Given the description of an element on the screen output the (x, y) to click on. 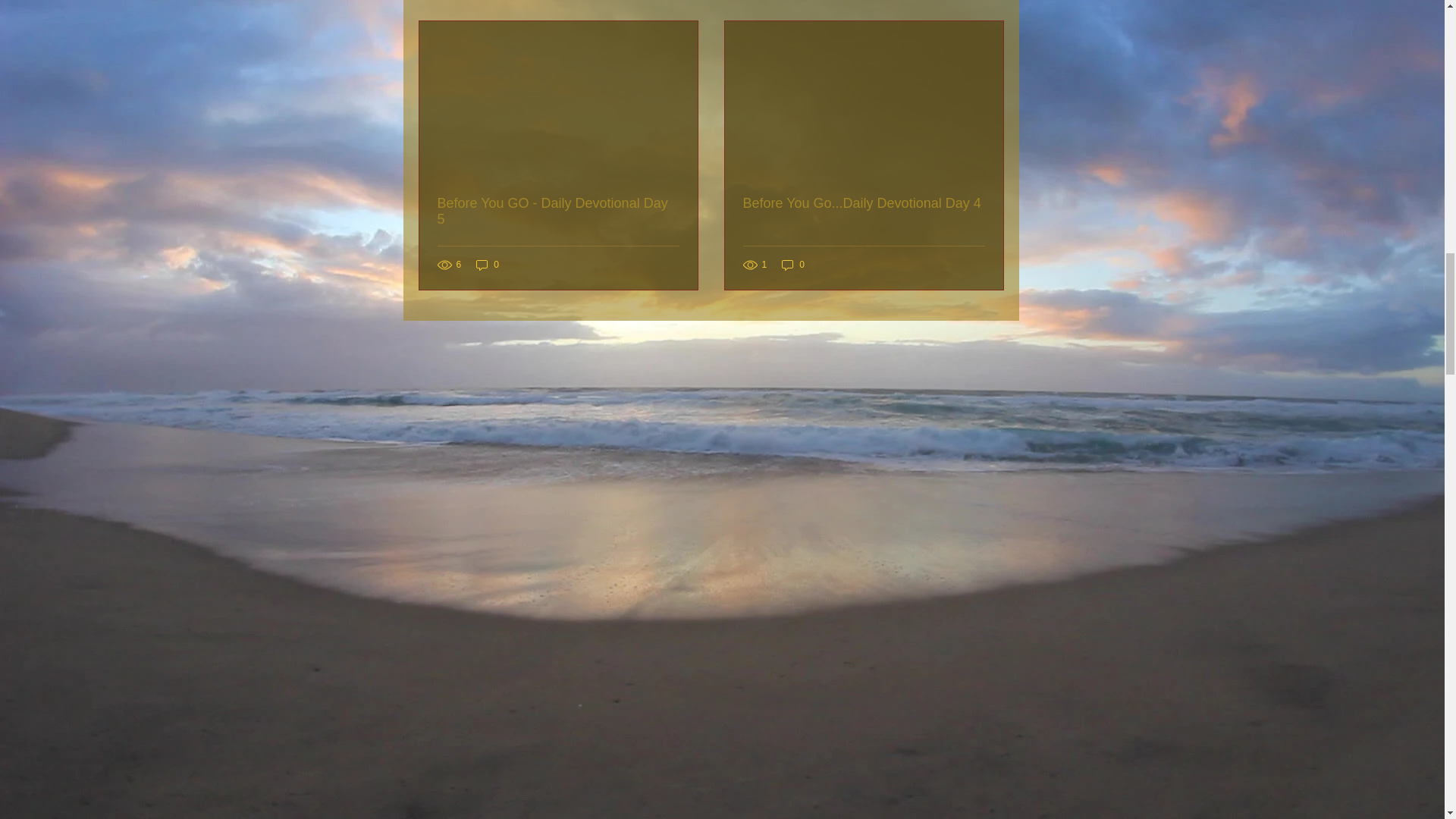
0 (793, 264)
Before You GO - Daily Devotional Day 5 (557, 211)
Before You Go...Daily Devotional Day 4 (863, 203)
0 (487, 264)
See All (987, 2)
